Given the description of an element on the screen output the (x, y) to click on. 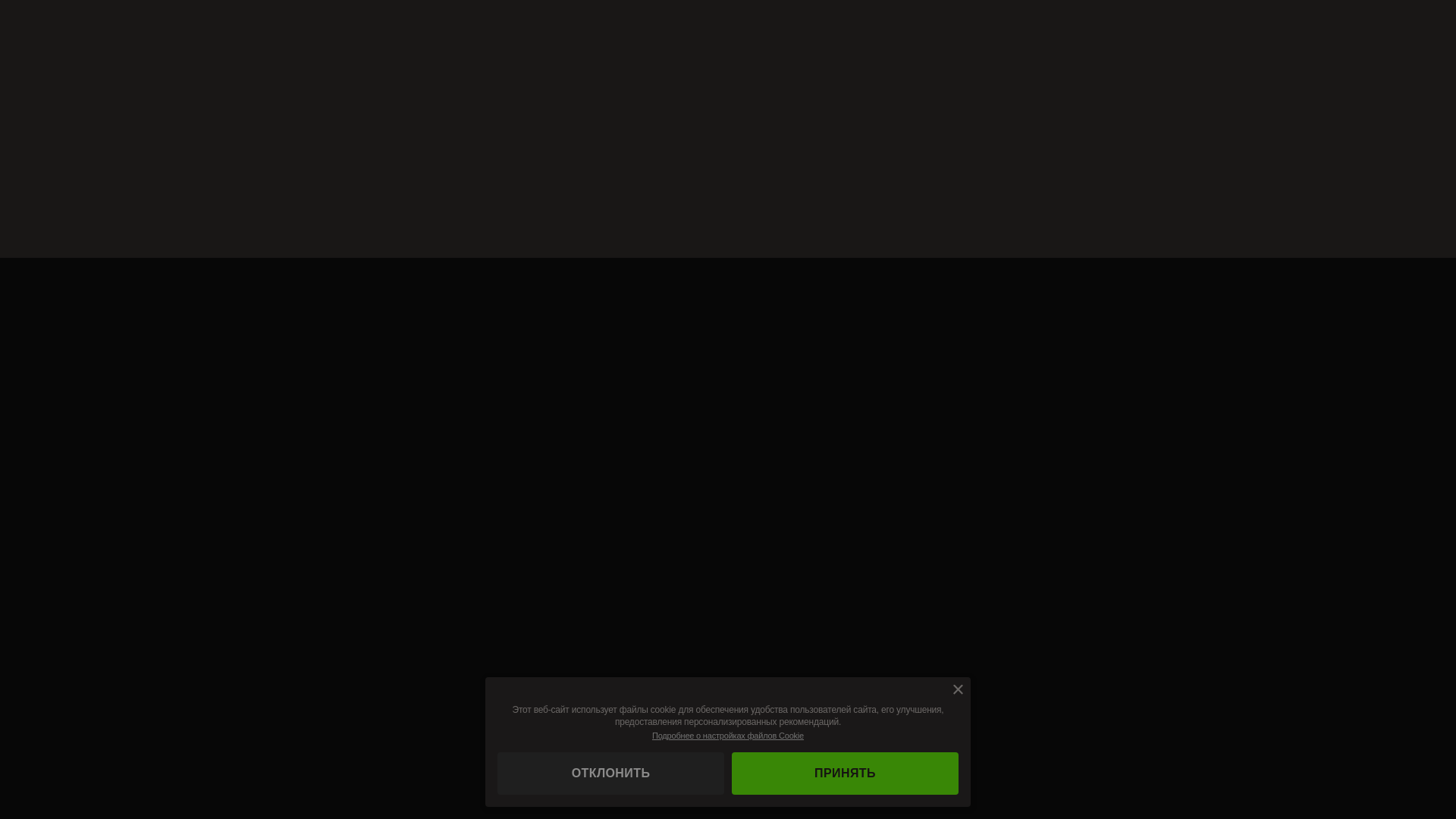
storage Element type: hover (0, 0)
